Given the description of an element on the screen output the (x, y) to click on. 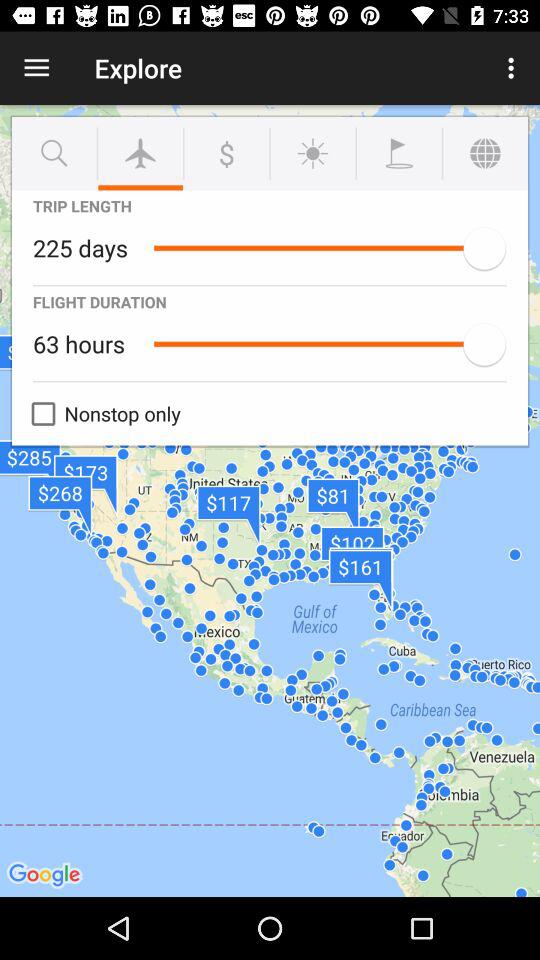
select the icon to the left of the explore item (36, 68)
